Given the description of an element on the screen output the (x, y) to click on. 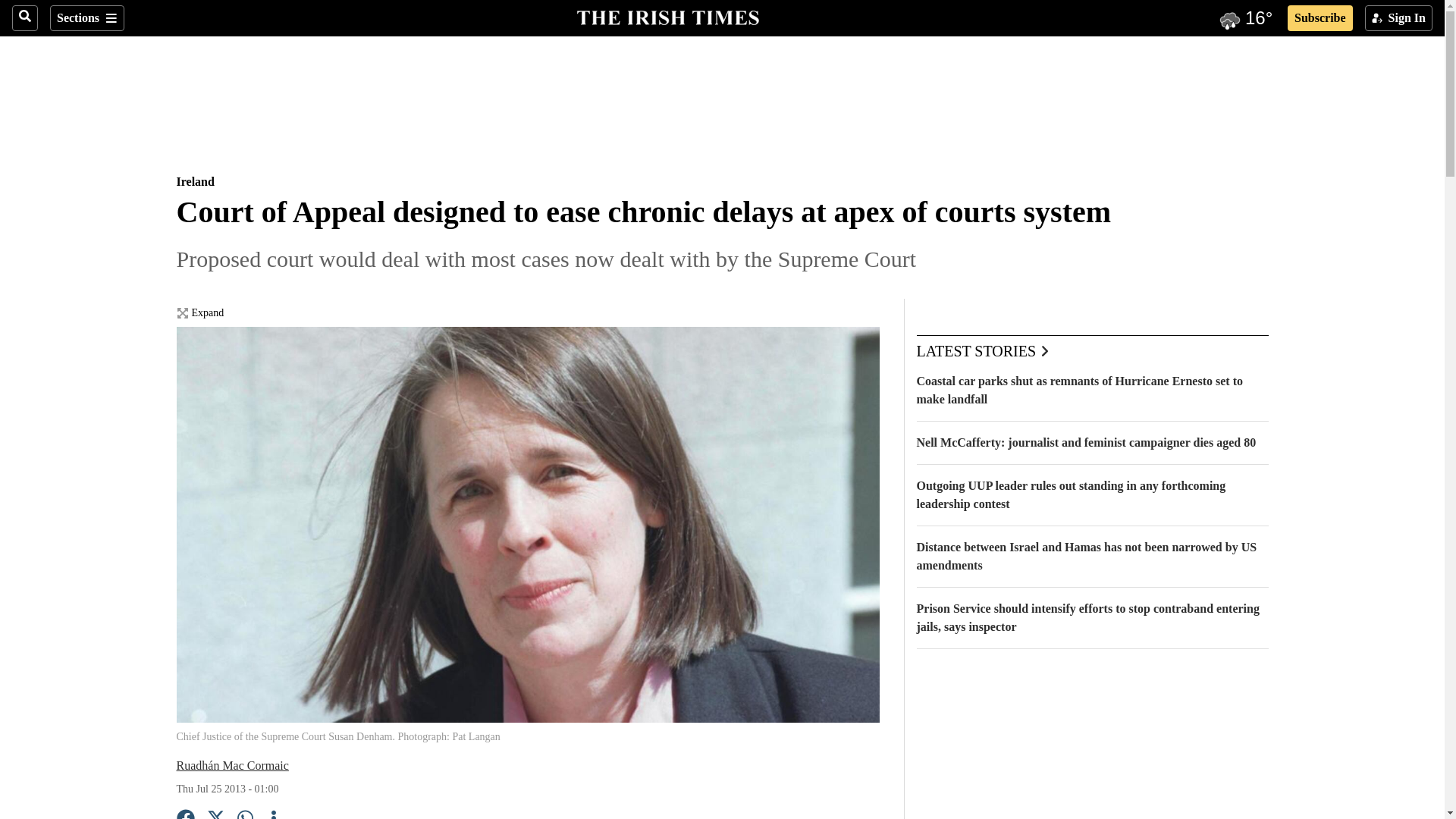
Sections (86, 17)
The Irish Times (667, 16)
Sign In (1398, 17)
Subscribe (1319, 17)
X (215, 814)
Facebook (184, 814)
WhatsApp (244, 814)
